Given the description of an element on the screen output the (x, y) to click on. 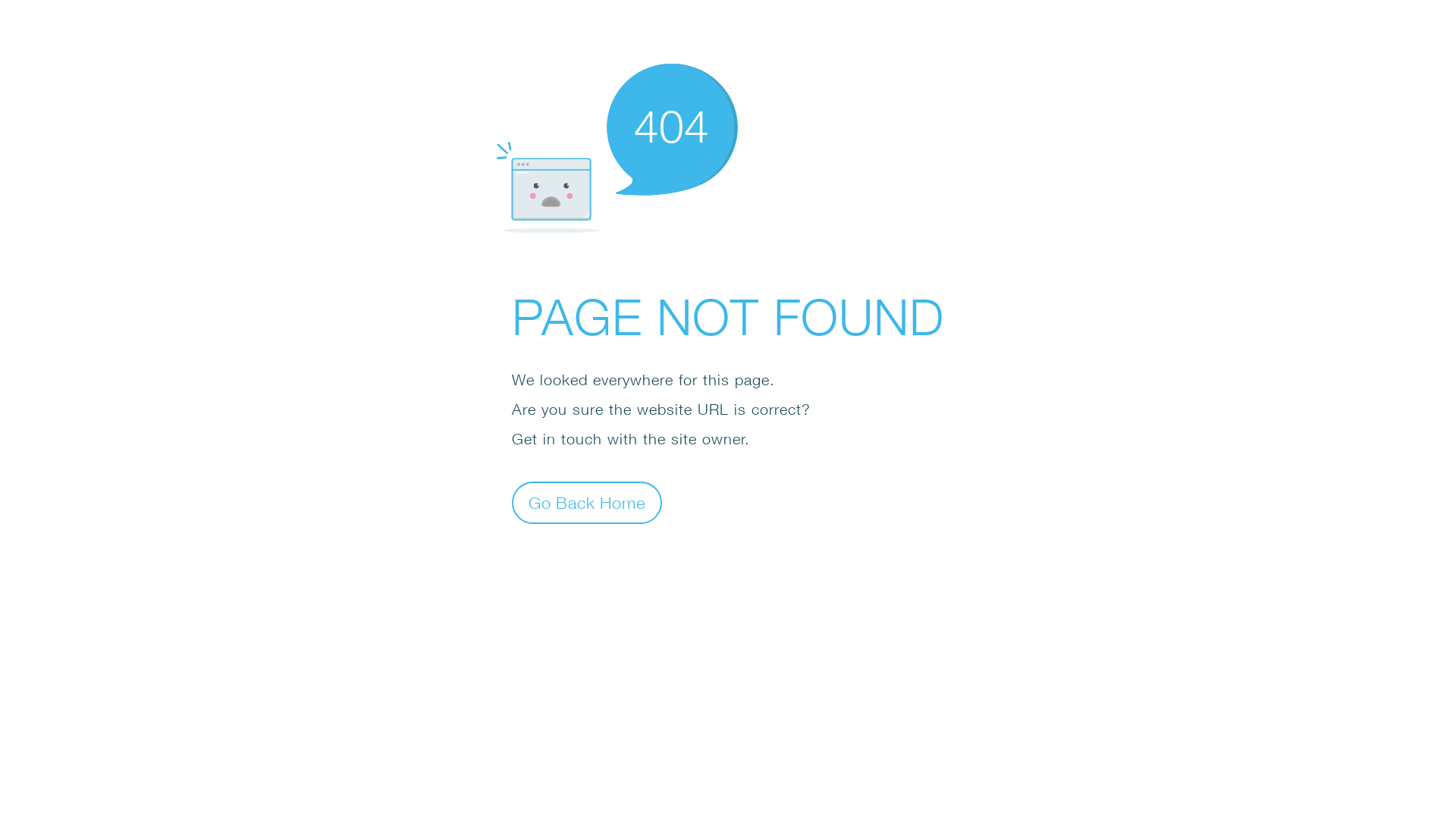
Go Back Home Element type: text (586, 502)
